Given the description of an element on the screen output the (x, y) to click on. 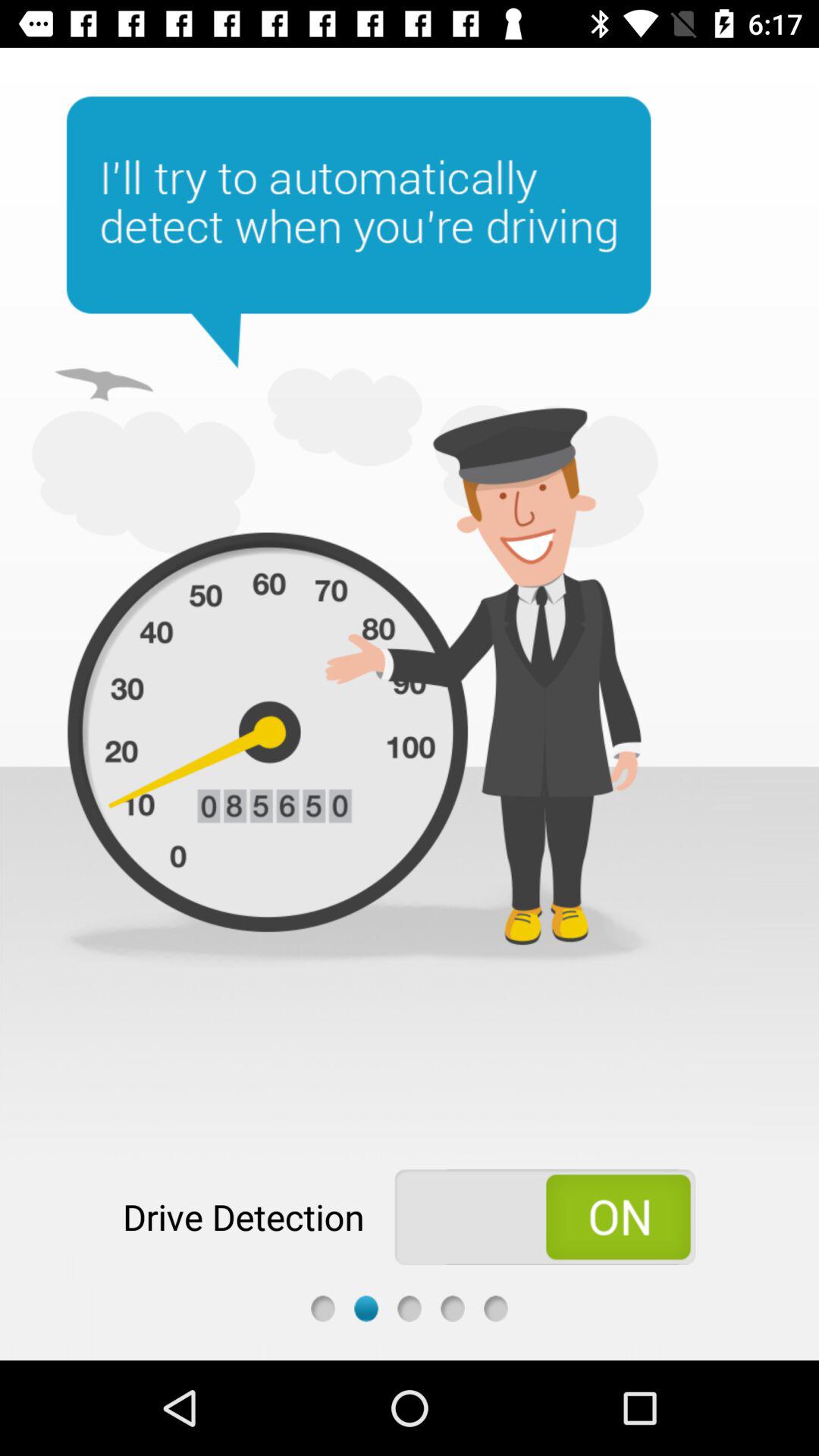
go to first screen (322, 1308)
